Given the description of an element on the screen output the (x, y) to click on. 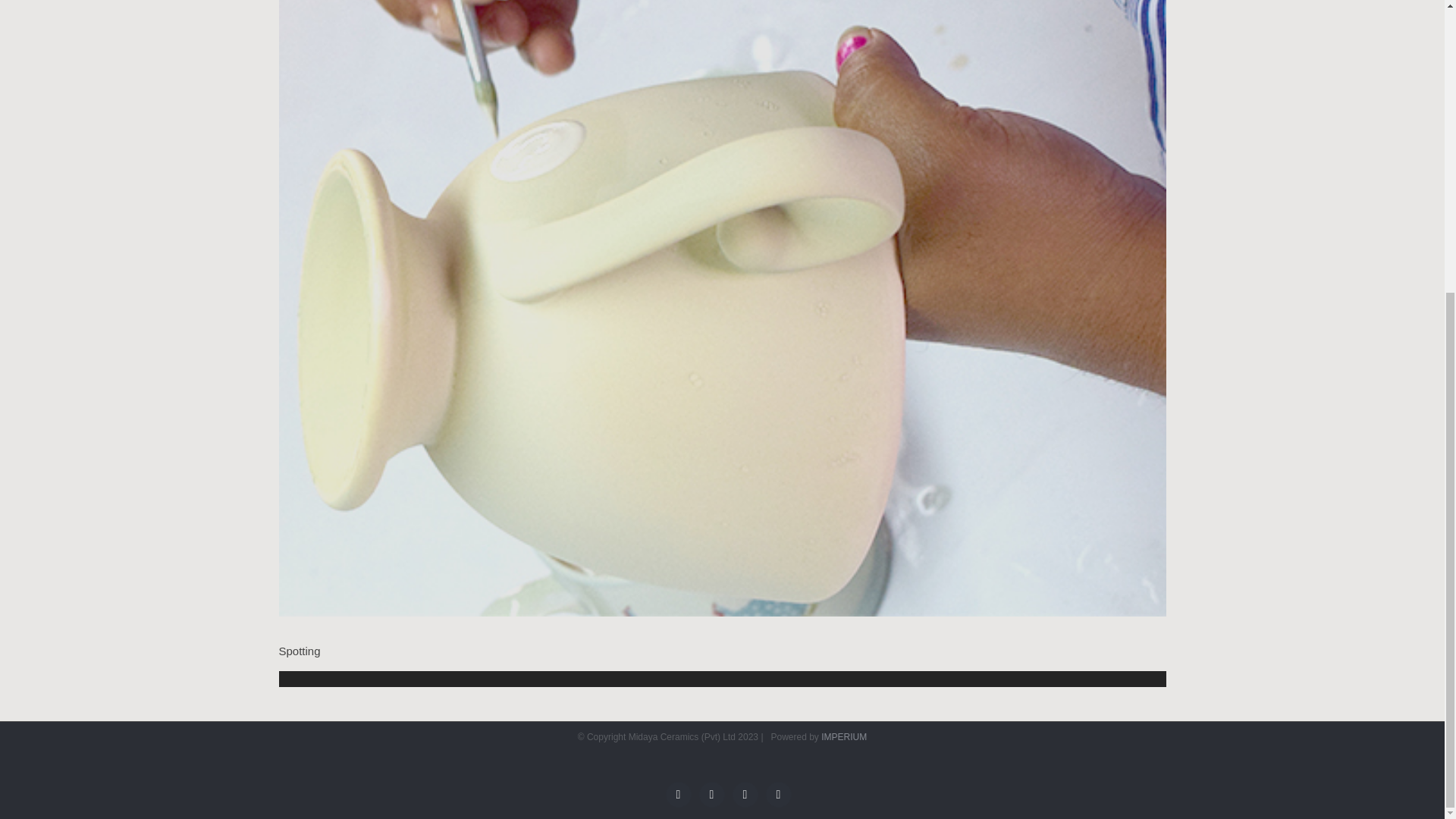
Facebook (678, 794)
IMPERIUM (843, 737)
Instagram (778, 794)
X (711, 794)
YouTube (745, 794)
